Given the description of an element on the screen output the (x, y) to click on. 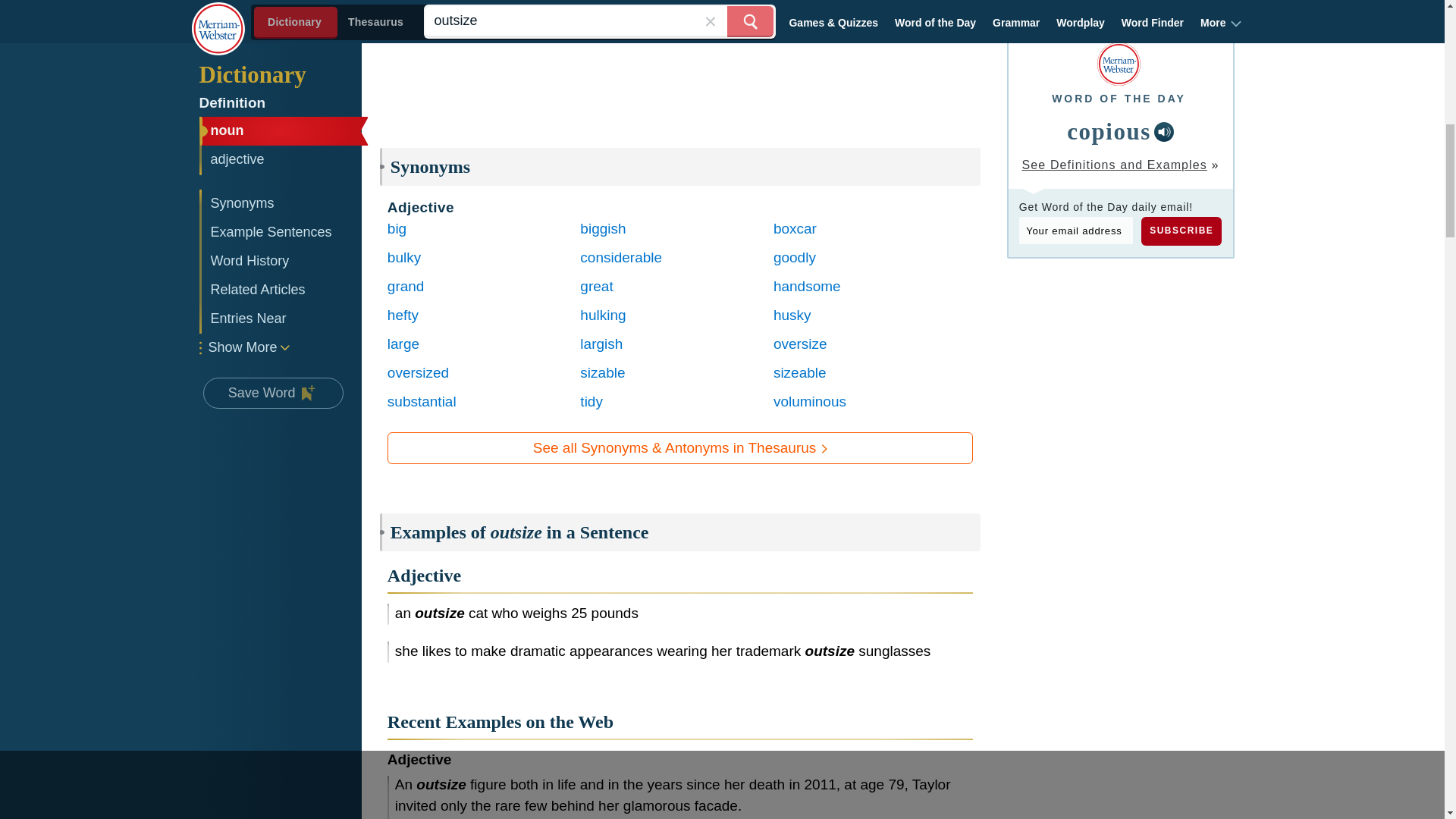
SUBSCRIBE (1181, 231)
Merriam Webster (1118, 63)
Listen to the pronunciation of copious (1163, 131)
